Given the description of an element on the screen output the (x, y) to click on. 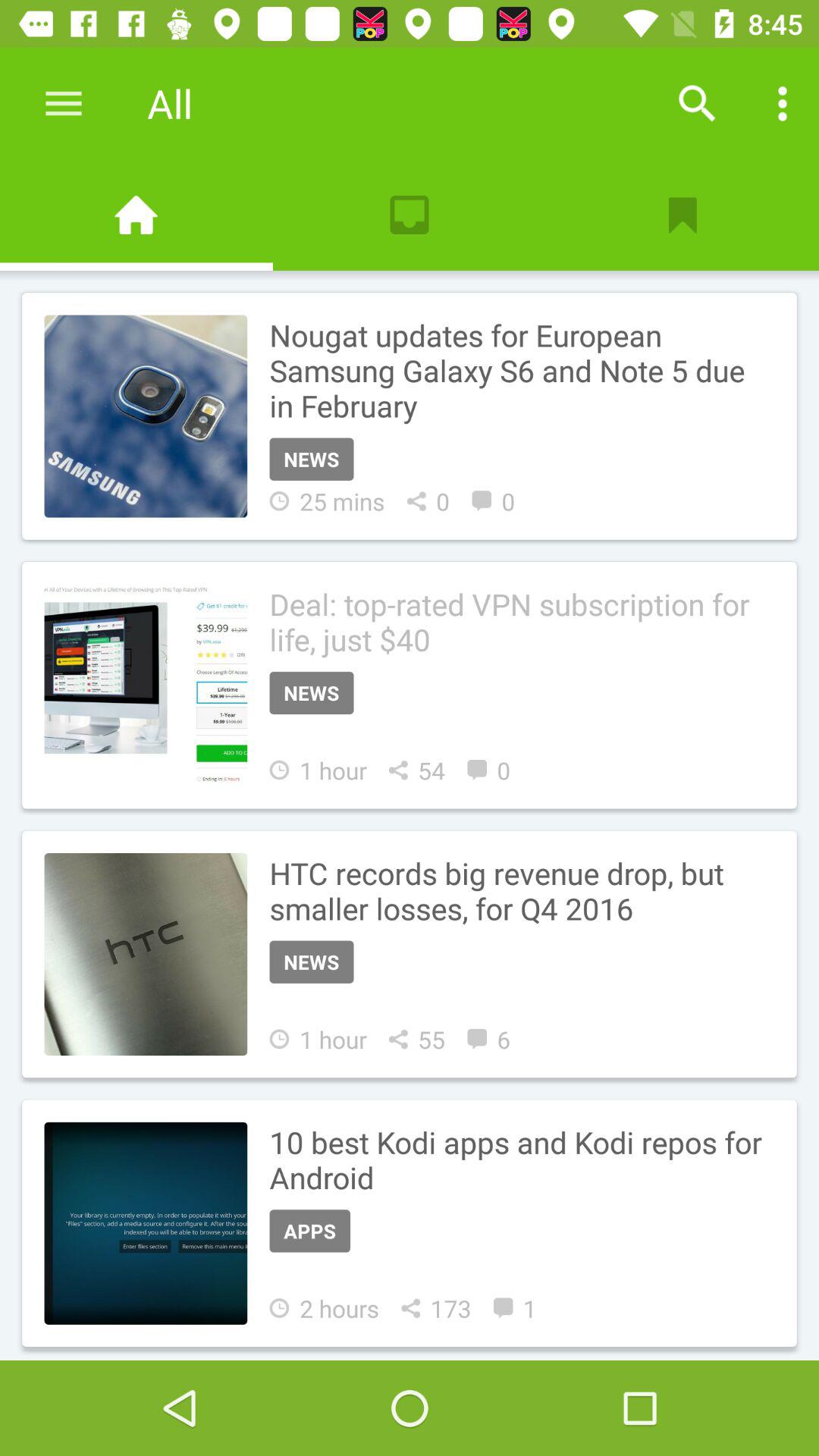
open menu (63, 103)
